Given the description of an element on the screen output the (x, y) to click on. 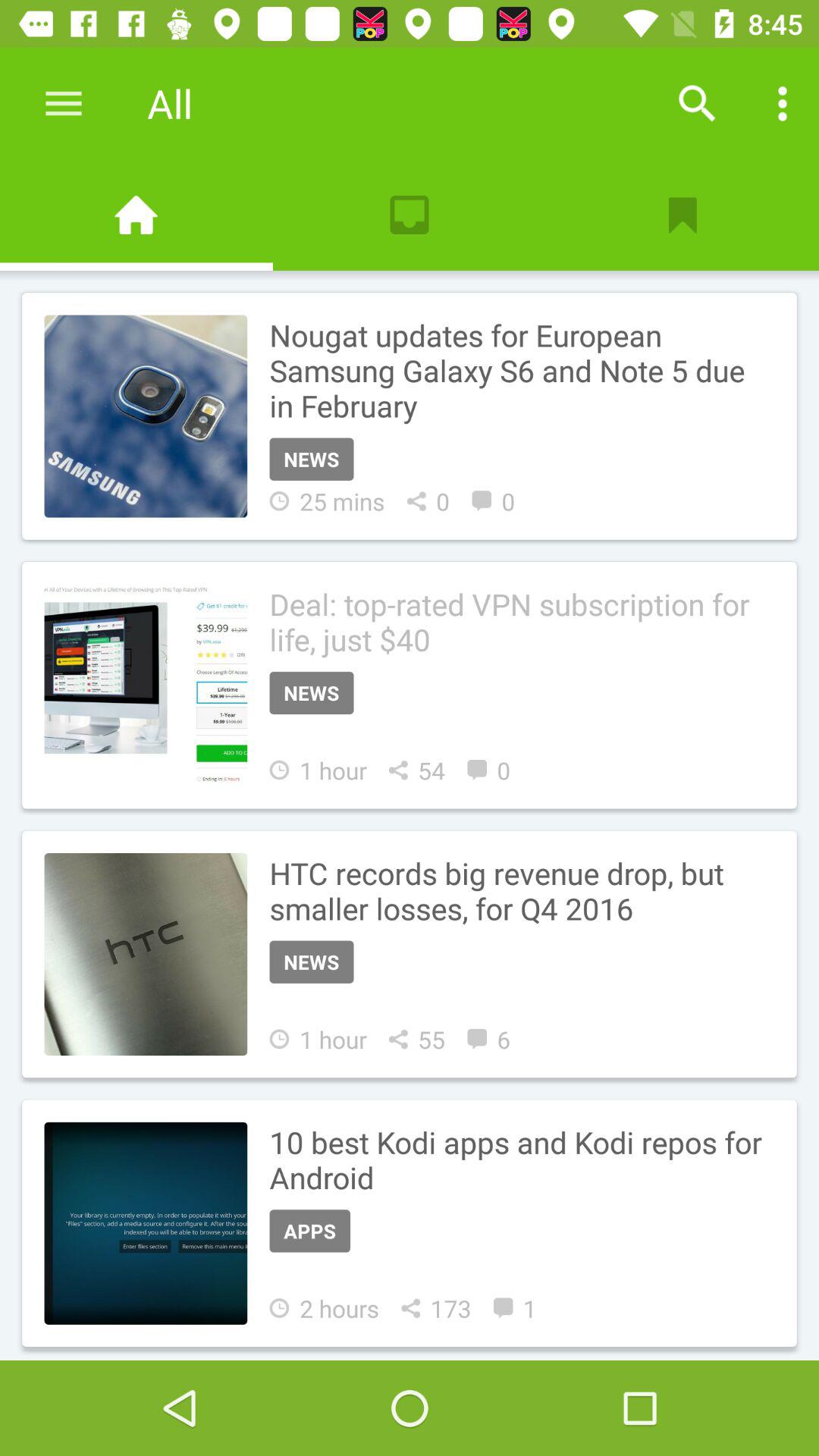
open menu (63, 103)
